Given the description of an element on the screen output the (x, y) to click on. 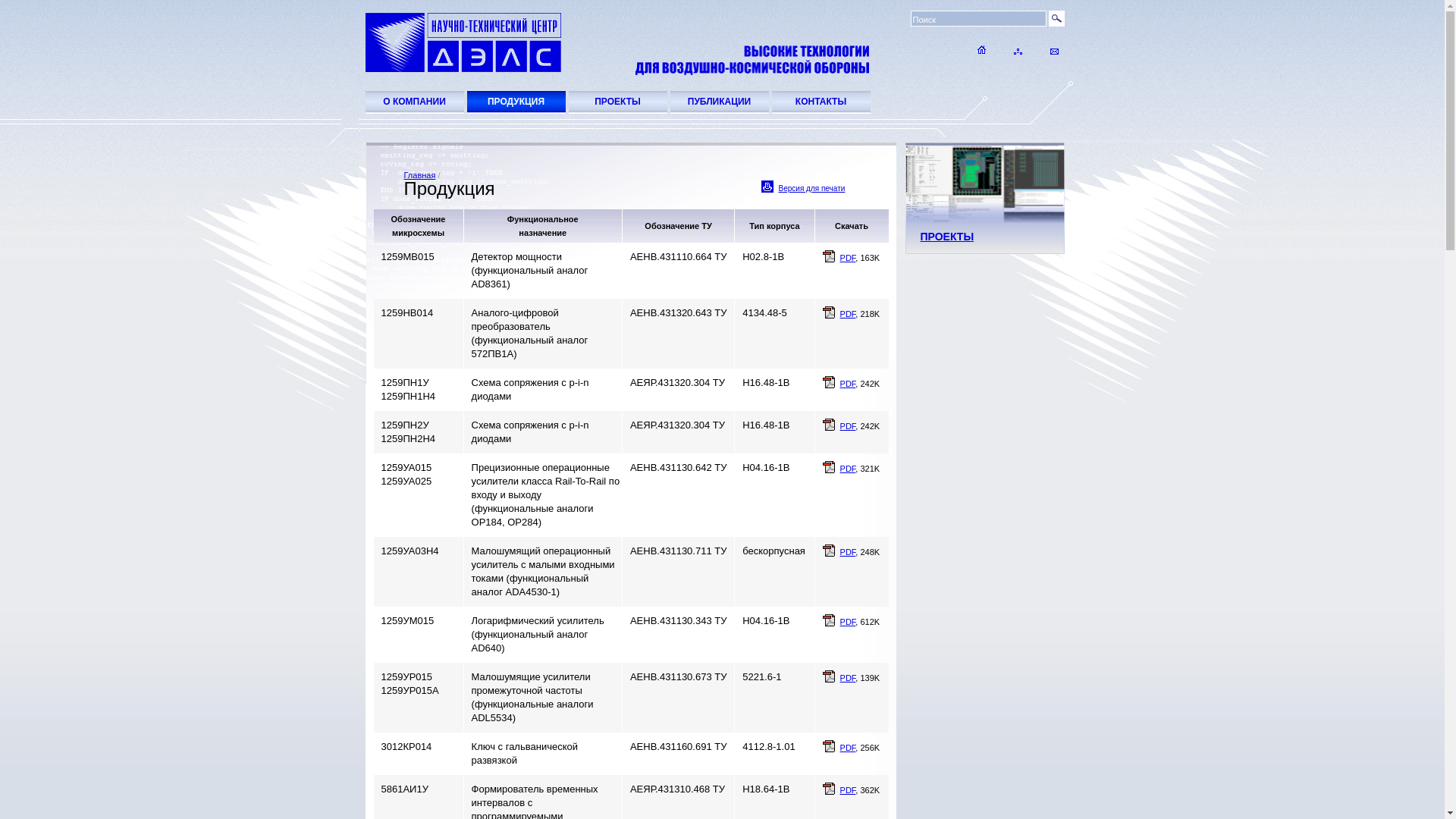
PDF Element type: text (848, 313)
PDF Element type: text (848, 789)
PDF Element type: text (848, 425)
PDF Element type: text (848, 677)
PDF Element type: text (848, 257)
PDF Element type: text (848, 383)
PDF Element type: text (848, 621)
PDF Element type: text (848, 551)
PDF Element type: text (848, 468)
PDF Element type: text (848, 747)
